Given the description of an element on the screen output the (x, y) to click on. 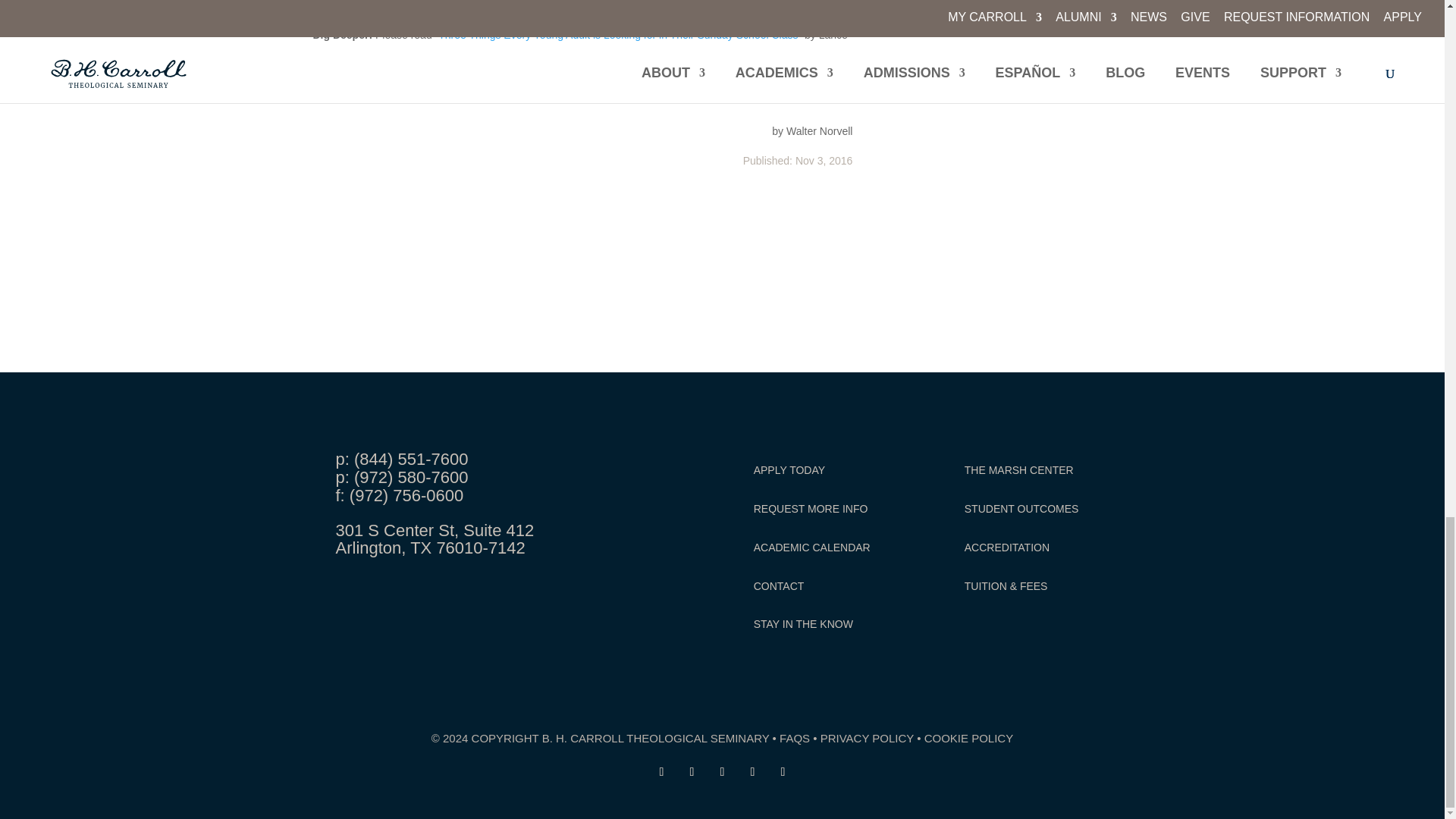
Follow on X (691, 771)
Follow on LinkedIn (782, 771)
Follow on Instagram (721, 771)
Follow on Youtube (751, 771)
Posts by Walter Norvell (818, 131)
Follow on Facebook (660, 771)
